Given the description of an element on the screen output the (x, y) to click on. 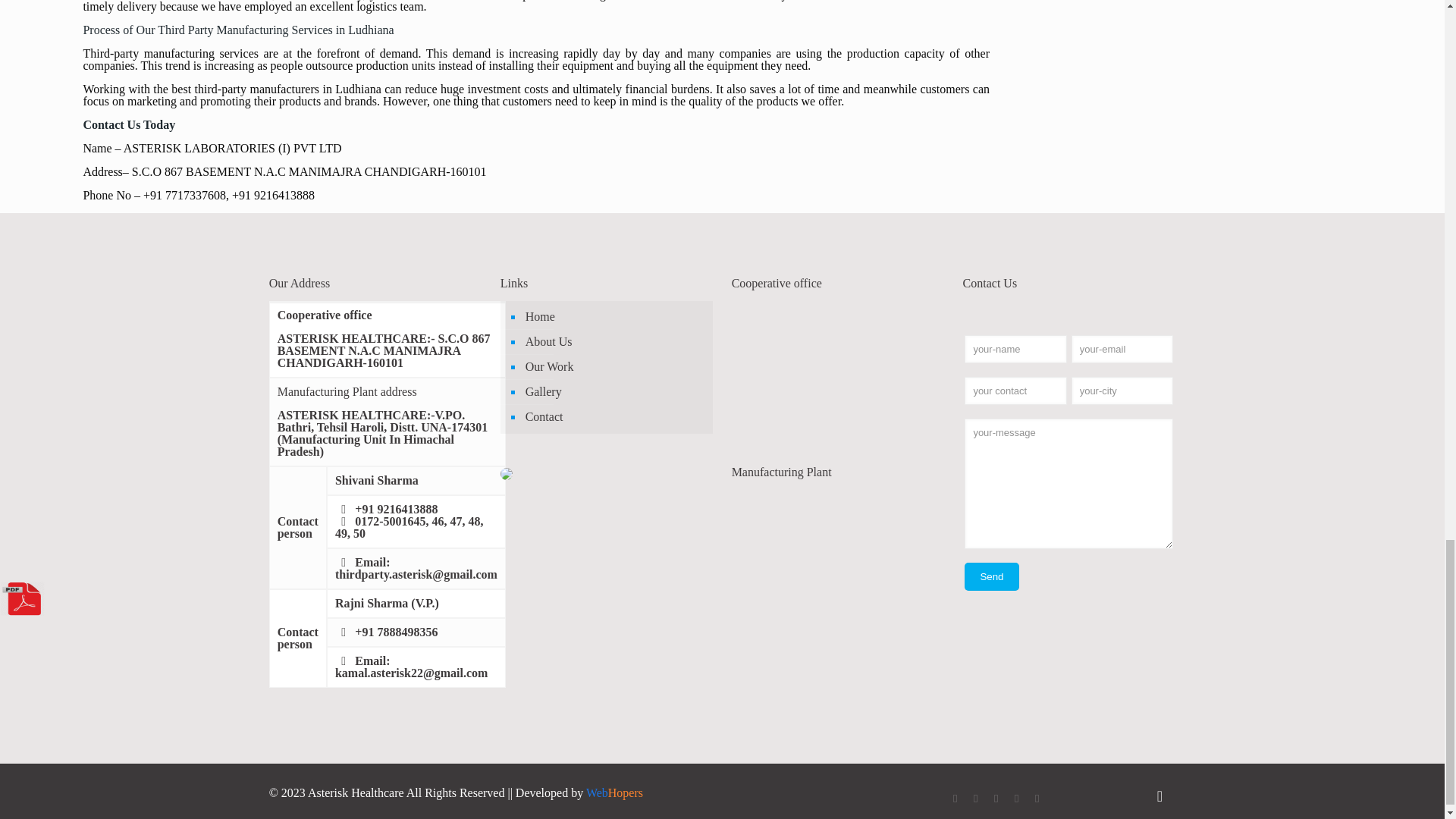
Send (990, 576)
Instagram (1037, 798)
Pinterest (1017, 798)
Facebook (954, 798)
Twitter (976, 798)
LinkedIn (996, 798)
